Given the description of an element on the screen output the (x, y) to click on. 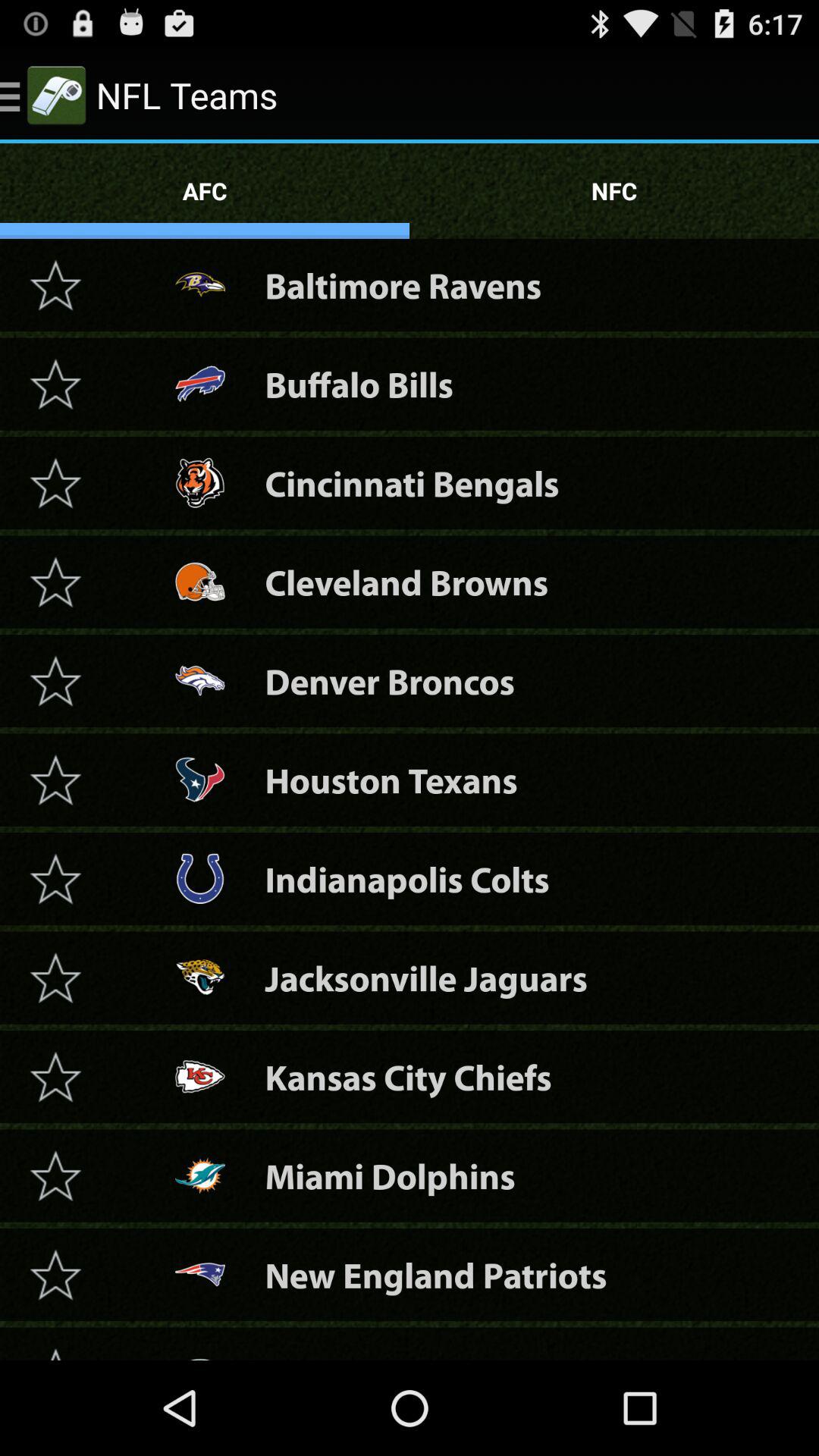
add to favorits (55, 482)
